Given the description of an element on the screen output the (x, y) to click on. 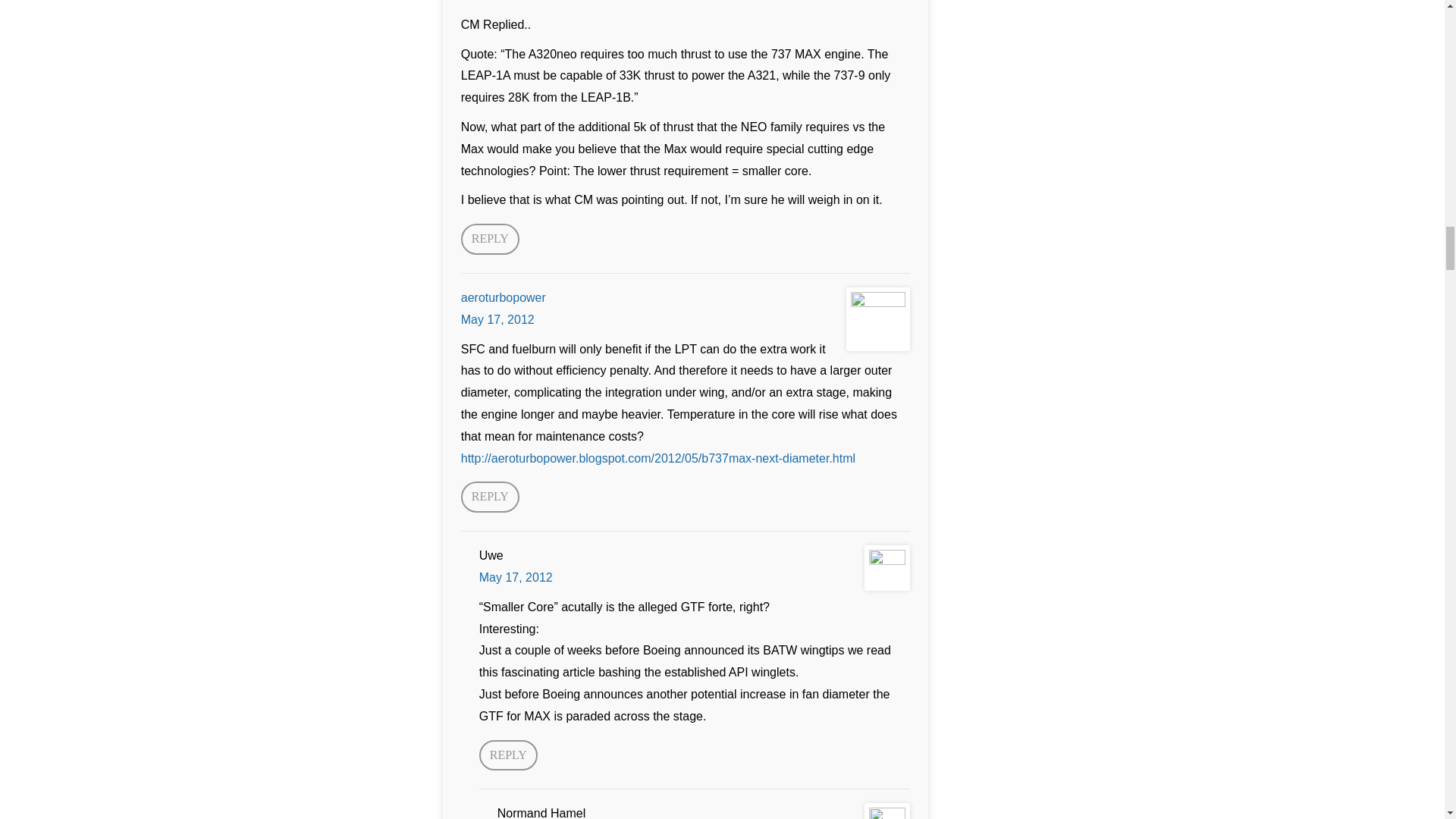
May 17, 2012 (516, 576)
aeroturbopower (503, 297)
REPLY (490, 238)
REPLY (490, 496)
May 17, 2012 (497, 318)
REPLY (508, 755)
